Given the description of an element on the screen output the (x, y) to click on. 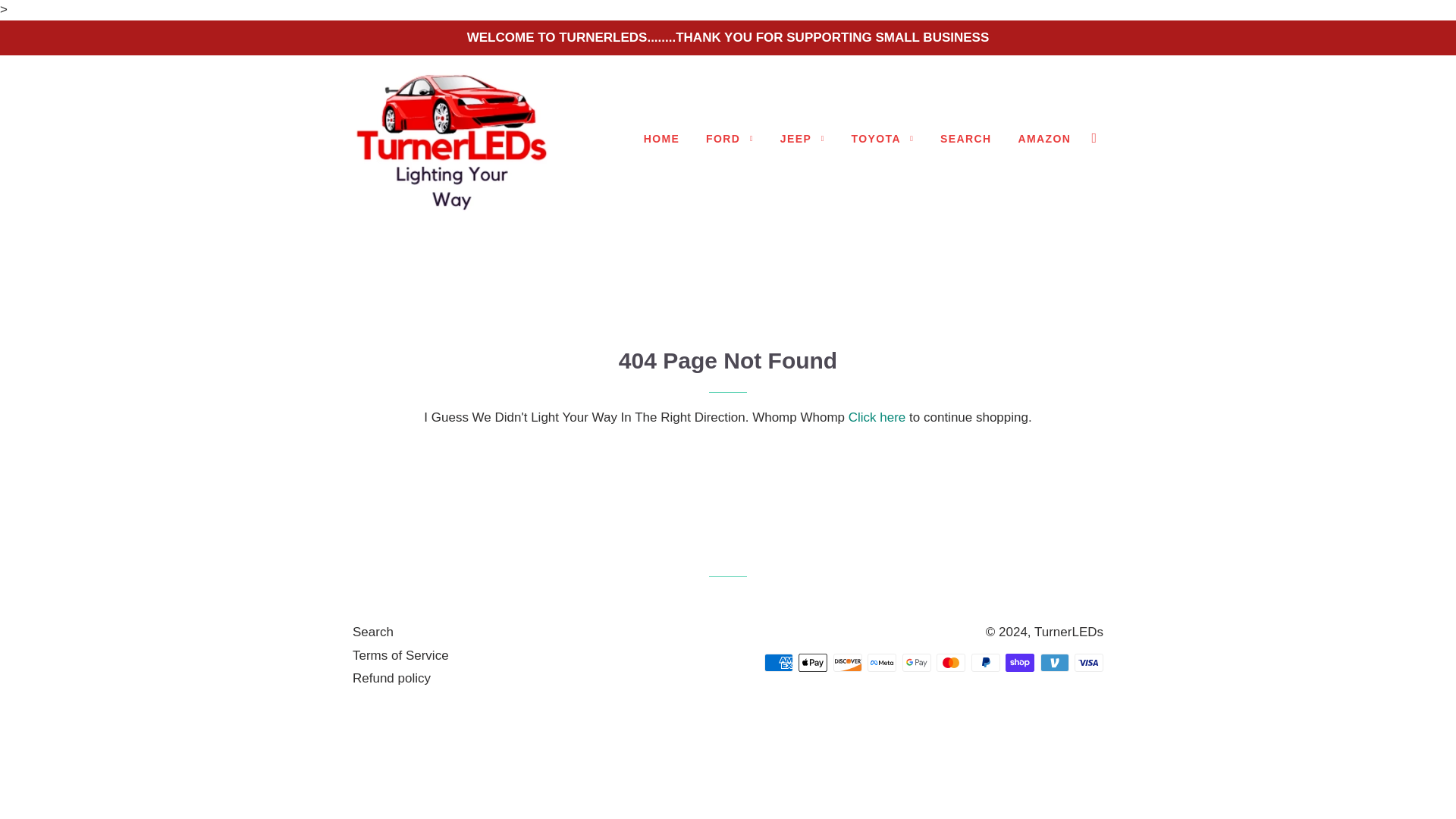
FORD (729, 138)
American Express (778, 662)
Meta Pay (881, 662)
HOME (661, 138)
TOYOTA (883, 138)
PayPal (984, 662)
Apple Pay (812, 662)
Mastercard (950, 662)
Discover (846, 662)
Shop Pay (1019, 662)
